Given the description of an element on the screen output the (x, y) to click on. 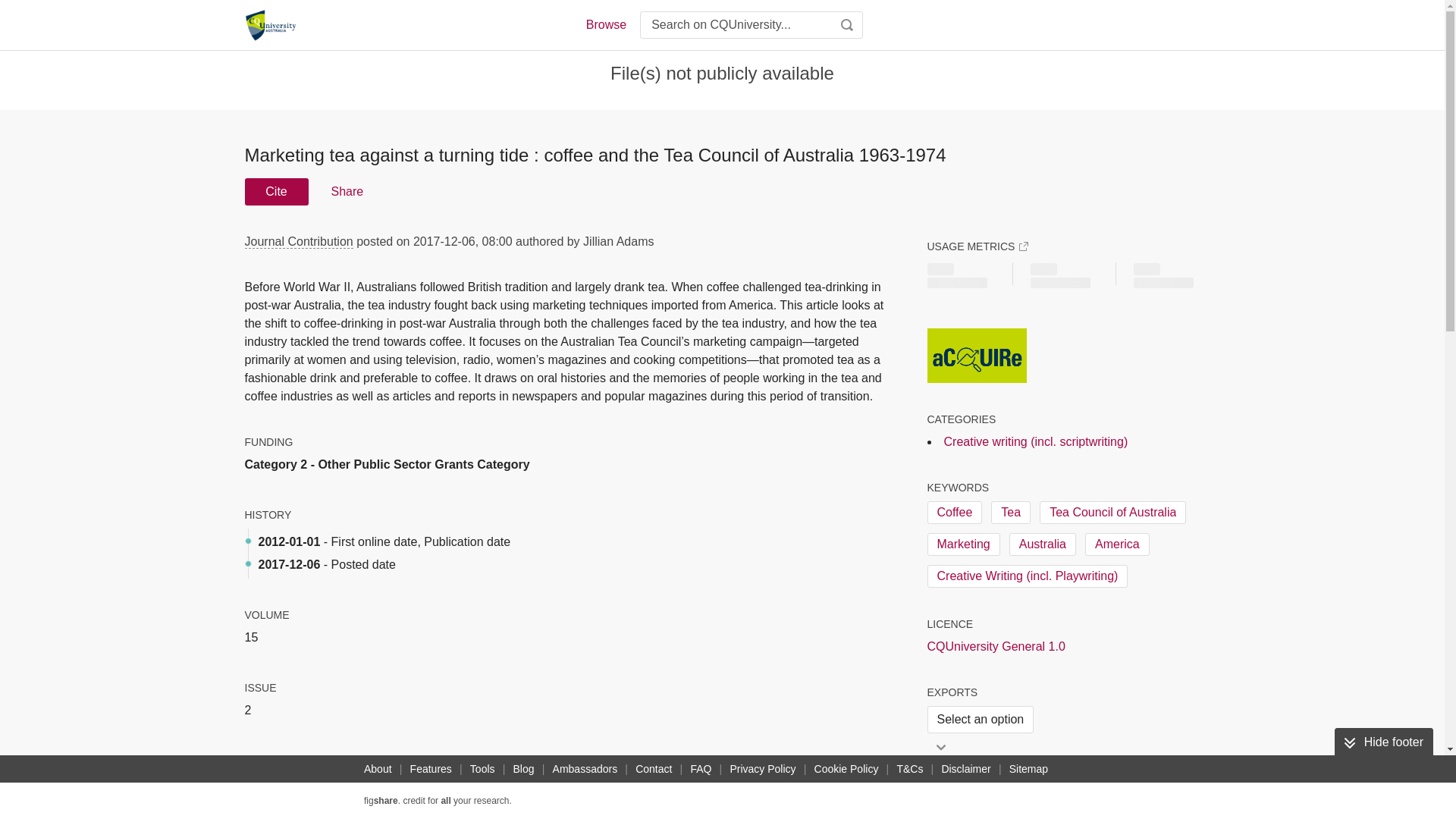
Tea (1010, 512)
Coffee (953, 512)
Cite (275, 191)
USAGE METRICS (976, 246)
Hide footer (1383, 742)
Ambassadors (585, 769)
Privacy Policy (762, 769)
Disclaimer (965, 769)
Select an option (979, 719)
CQUniversity General 1.0 (995, 647)
Sitemap (1028, 769)
Blog (523, 769)
Features (431, 769)
Marketing (962, 544)
About (377, 769)
